Given the description of an element on the screen output the (x, y) to click on. 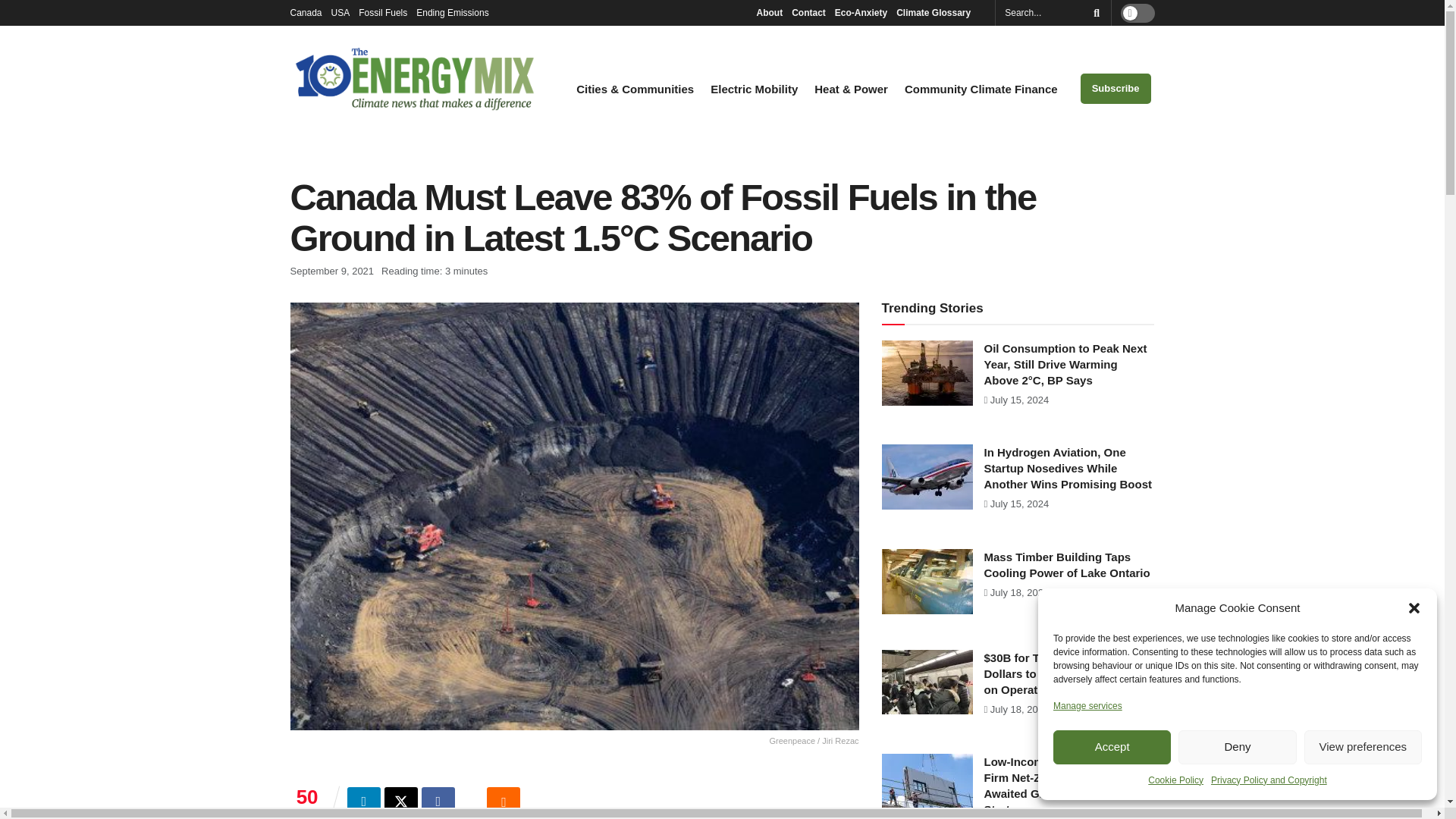
Canada (305, 12)
Accept (1111, 747)
About (769, 12)
View preferences (1363, 747)
Eco-Anxiety (860, 12)
Climate Glossary (937, 12)
Community Climate Finance (981, 89)
USA (340, 12)
Ending Emissions (456, 12)
Subscribe (1115, 88)
Cookie Policy (1176, 780)
Fossil Fuels (382, 12)
Contact (808, 12)
Privacy Policy and Copyright (1268, 780)
Manage services (1087, 705)
